Given the description of an element on the screen output the (x, y) to click on. 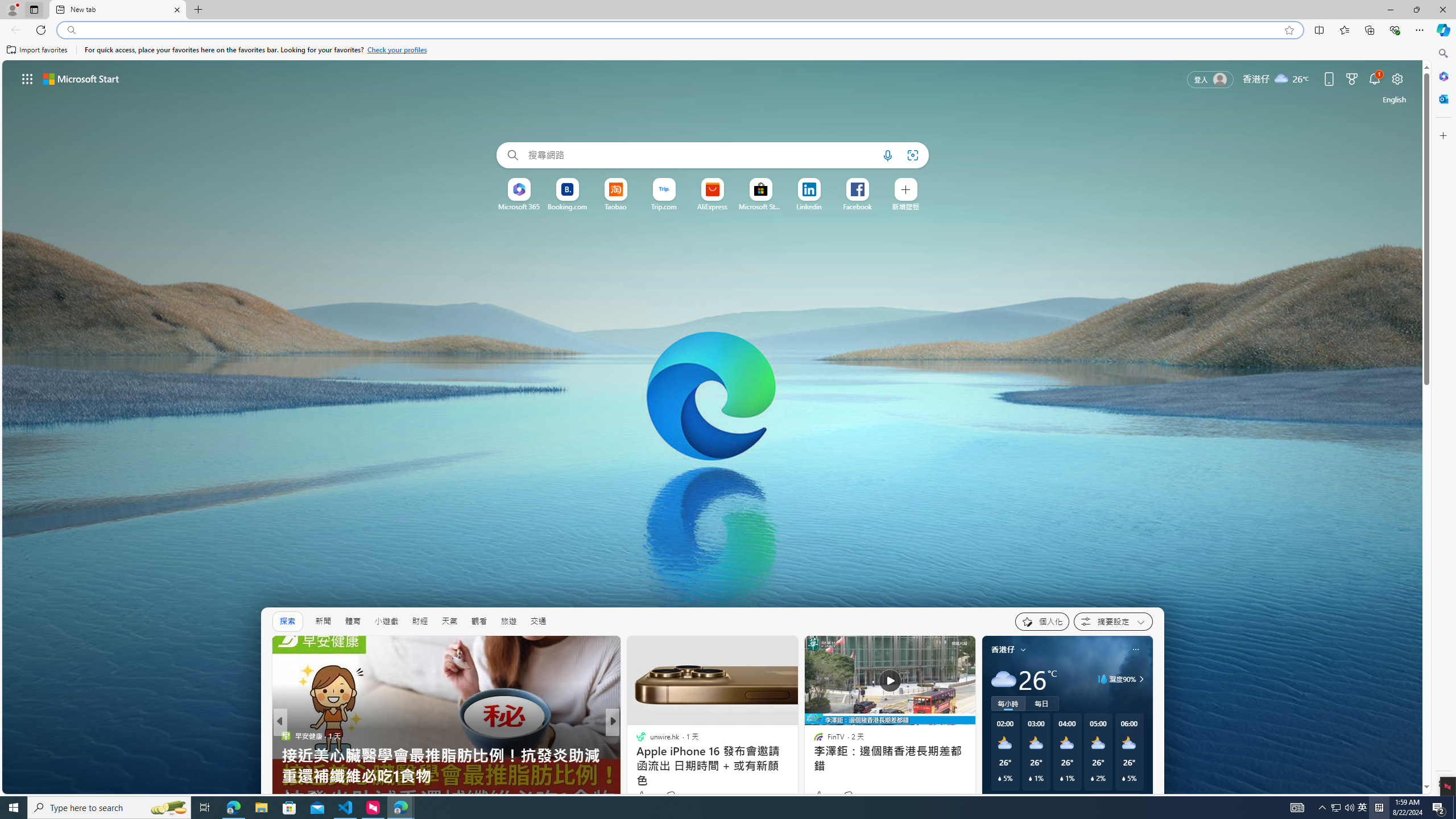
AFP (635, 755)
